Given the description of an element on the screen output the (x, y) to click on. 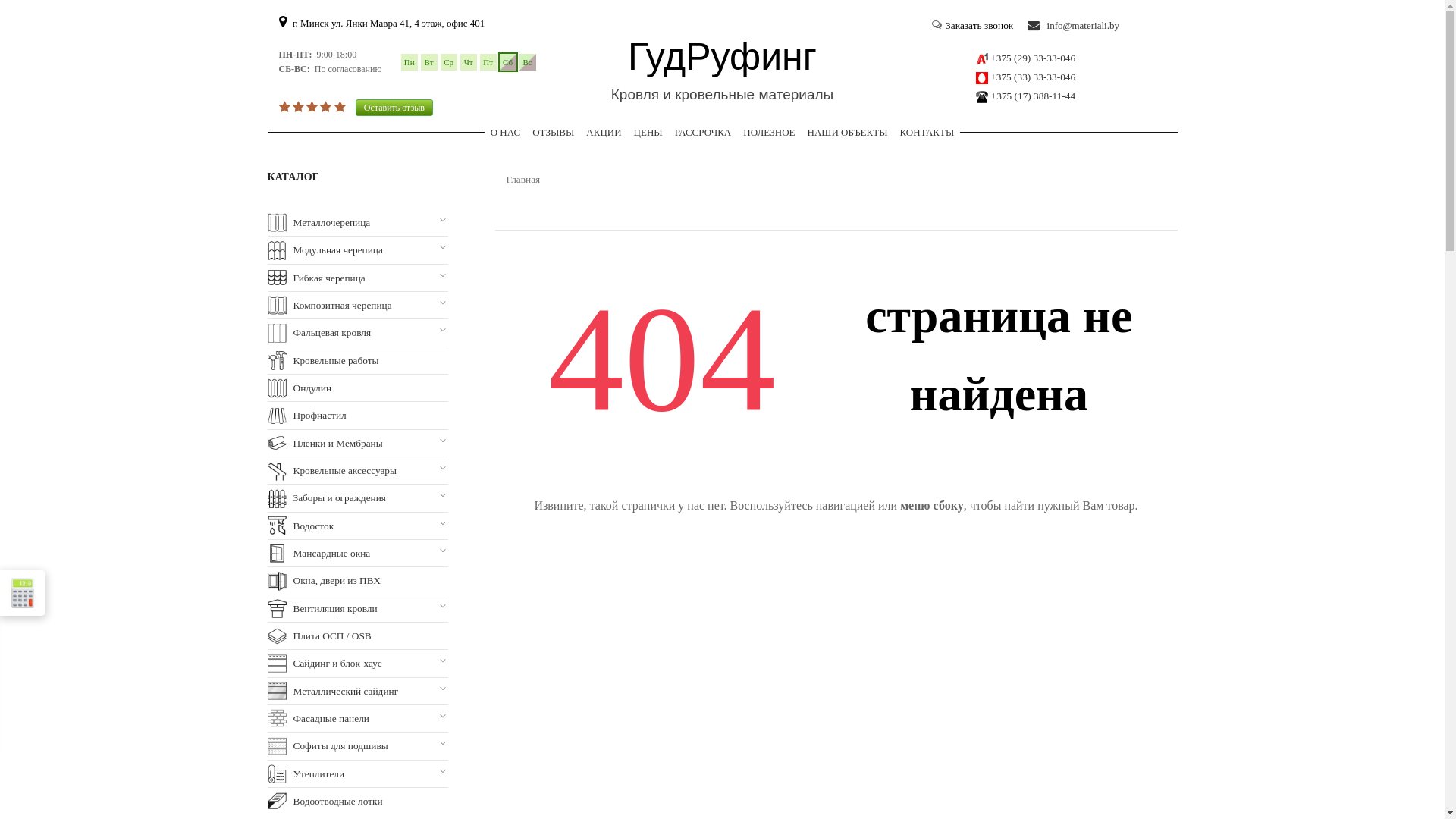
+375 (29) 33-33-046 Element type: text (1032, 57)
a1 Element type: hover (981, 59)
info@materiali.by Element type: text (1073, 25)
mts Element type: hover (981, 78)
+375 (33) 33-33-046 Element type: text (1032, 76)
+375 (17) 388-11-44 Element type: text (1033, 95)
